Given the description of an element on the screen output the (x, y) to click on. 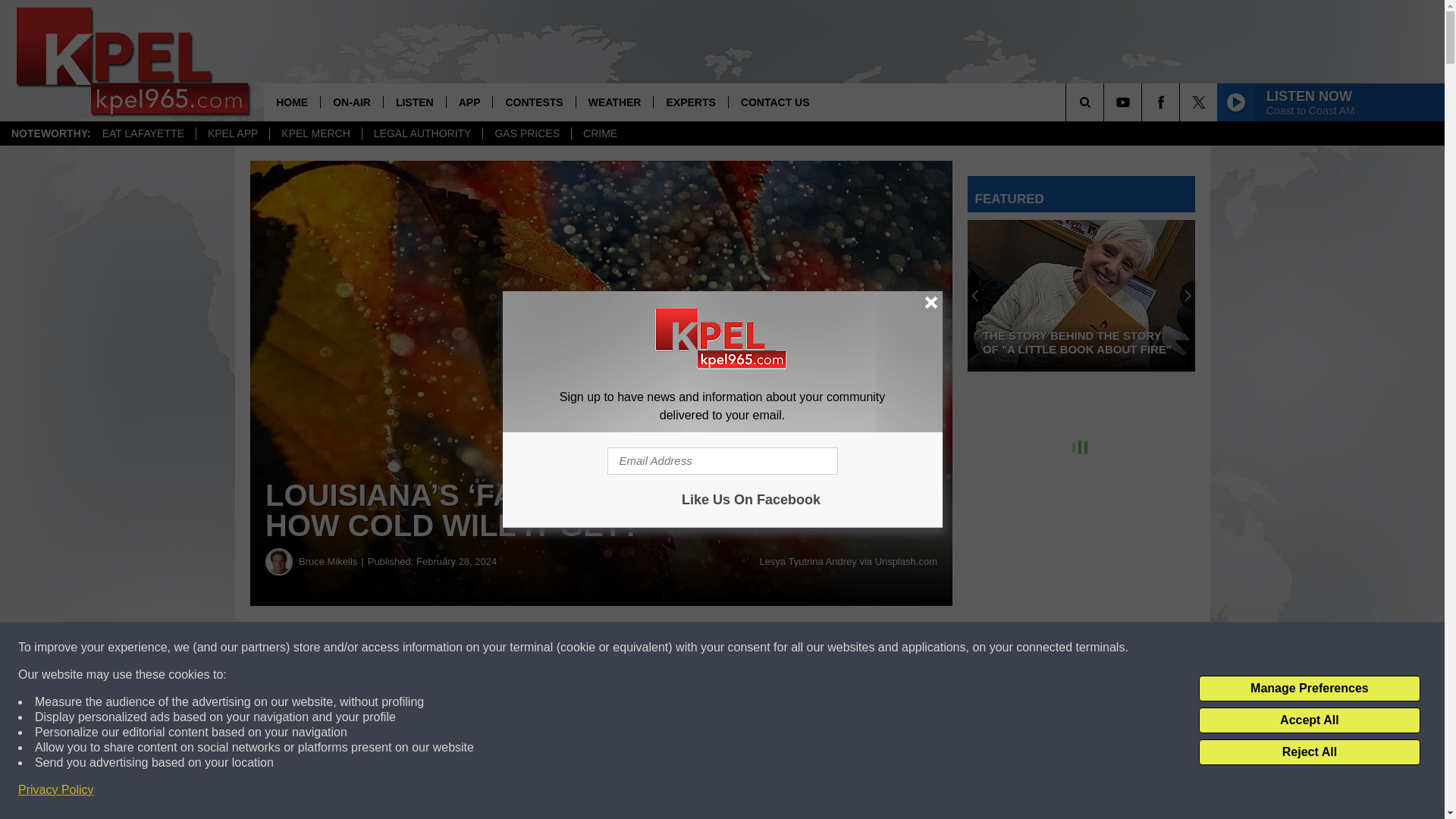
Privacy Policy (55, 789)
SEARCH (1106, 102)
LEGAL AUTHORITY (422, 133)
Manage Preferences (1309, 688)
EAT LAFAYETTE (142, 133)
GAS PRICES (525, 133)
EXPERTS (689, 102)
CONTESTS (533, 102)
WEATHER (614, 102)
LISTEN (413, 102)
ON-AIR (351, 102)
Reject All (1309, 751)
SEARCH (1106, 102)
CRIME (599, 133)
Email Address (722, 461)
